Given the description of an element on the screen output the (x, y) to click on. 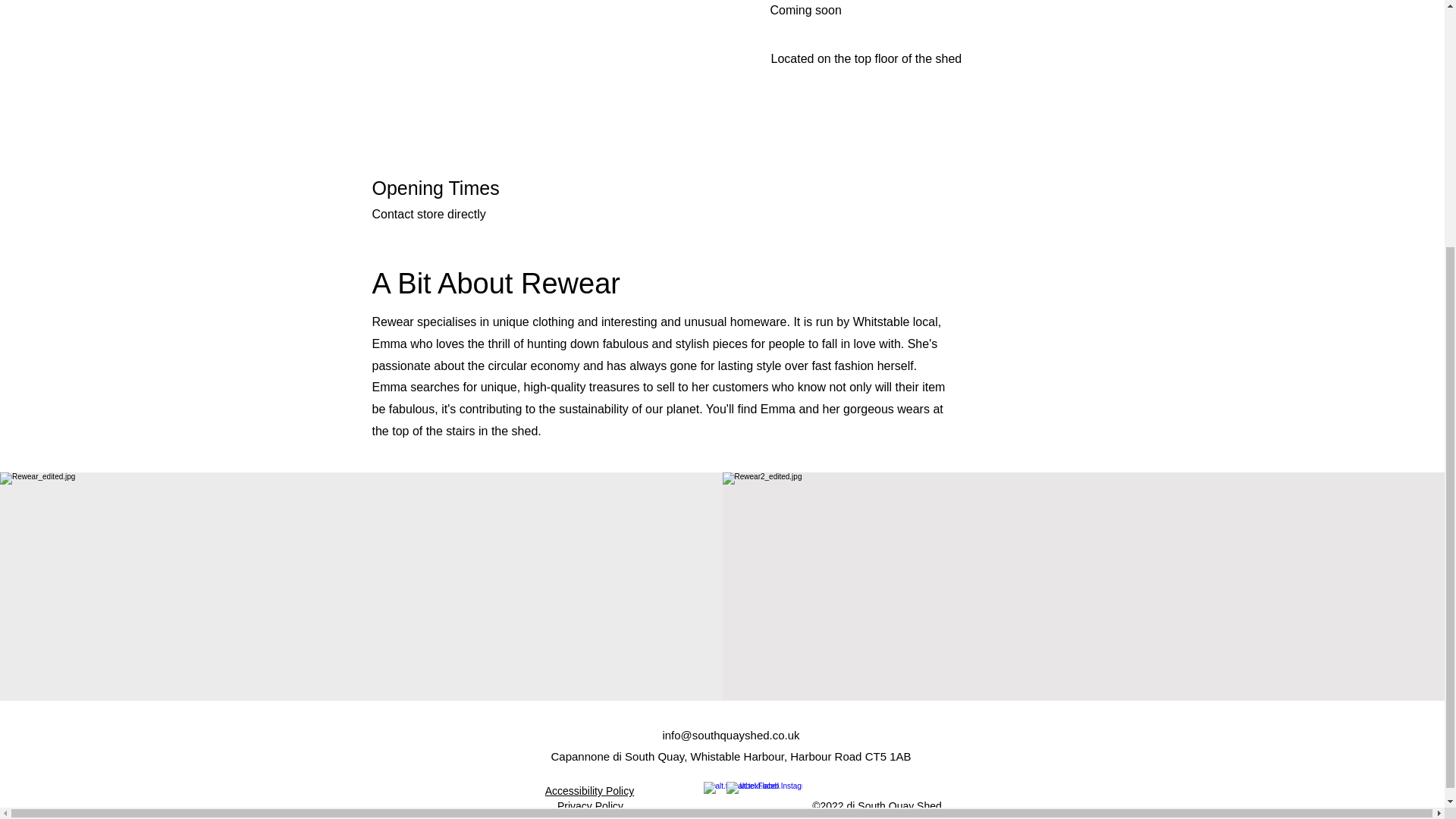
Privacy Policy (590, 806)
Located on the top floor of the shed (865, 58)
Coming soon (805, 10)
Accessibility Policy (588, 790)
